Given the description of an element on the screen output the (x, y) to click on. 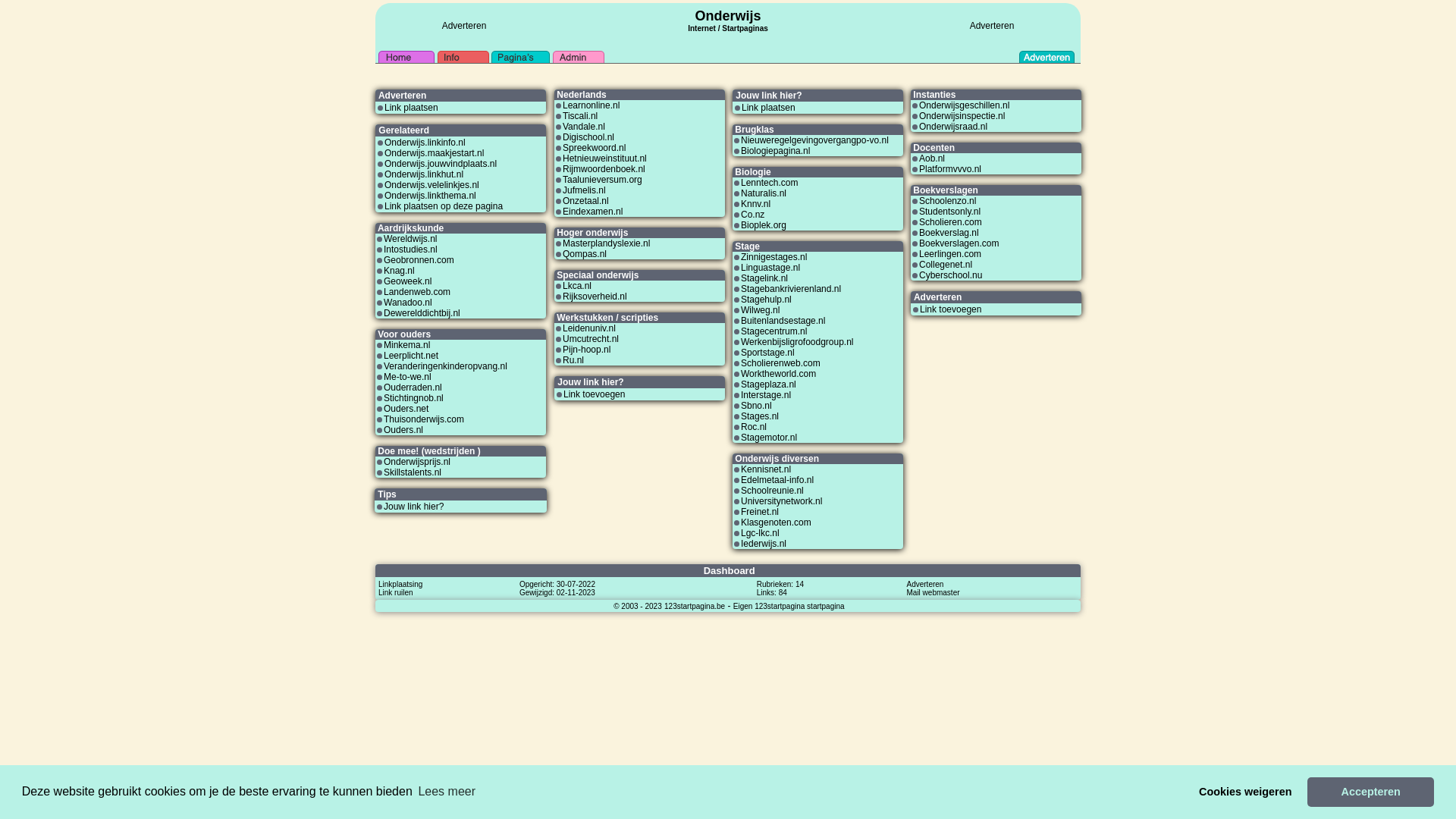
Onderwijs.jouwvindplaats.nl Element type: text (440, 163)
Worktheworld.com Element type: text (777, 373)
Jufmelis.nl Element type: text (583, 190)
Stages.nl Element type: text (759, 416)
123startpagina.be Element type: text (694, 605)
Link plaatsen Element type: text (768, 107)
Geoweek.nl Element type: text (407, 281)
Jouw link hier? Element type: text (413, 506)
Geobronnen.com Element type: text (418, 259)
Link plaatsen Element type: text (411, 107)
Link toevoegen Element type: text (950, 309)
Onderwijs Element type: text (727, 15)
Stagelink.nl Element type: text (763, 278)
Me-to-we.nl Element type: text (407, 376)
Onderwijsinspectie.nl Element type: text (961, 115)
Hetnieuweinstituut.nl Element type: text (604, 158)
Sbno.nl Element type: text (755, 405)
Iederwijs.nl Element type: text (763, 543)
Skillstalents.nl Element type: text (412, 472)
Digischool.nl Element type: text (588, 136)
Onderwijsgeschillen.nl Element type: text (964, 105)
Eigen 123startpagina startpagina Element type: text (788, 605)
Schoolreunie.nl Element type: text (771, 490)
Ru.nl Element type: text (572, 359)
Stageplaza.nl Element type: text (768, 384)
Lkca.nl Element type: text (576, 285)
Leerlingen.com Element type: text (950, 253)
Taalunieversum.org Element type: text (602, 179)
Cyberschool.nu Element type: text (950, 274)
Scholieren.com Element type: text (950, 221)
Linkplaatsing Element type: text (400, 583)
Zinnigestages.nl Element type: text (773, 256)
Biologiepagina.nl Element type: text (774, 150)
Onderwijs.linkhut.nl Element type: text (423, 174)
Link ruilen Element type: text (395, 591)
Knag.nl Element type: text (398, 270)
Leerplicht.net Element type: text (410, 355)
Onzetaal.nl Element type: text (585, 200)
Werkenbijsligrofoodgroup.nl Element type: text (796, 341)
Qompas.nl Element type: text (584, 253)
Minkema.nl Element type: text (406, 344)
Adverteren Element type: text (991, 25)
Cookies weigeren Element type: text (1245, 791)
Thuisonderwijs.com Element type: text (423, 419)
Collegenet.nl Element type: text (945, 264)
Leidenuniv.nl Element type: text (588, 328)
Lgc-lkc.nl Element type: text (759, 532)
Mail webmaster Element type: text (933, 591)
Adverteren Element type: text (925, 583)
Pijn-hoop.nl Element type: text (586, 349)
Scholierenweb.com Element type: text (780, 362)
Startpaginas Element type: text (744, 28)
Lenntech.com Element type: text (768, 182)
Buitenlandsestage.nl Element type: text (782, 320)
Stagebankrivierenland.nl Element type: text (790, 288)
Dewerelddichtbij.nl Element type: text (421, 312)
Kennisnet.nl Element type: text (765, 469)
Onderwijsprijs.nl Element type: text (416, 461)
Ouders.nl Element type: text (403, 429)
Sportstage.nl Element type: text (767, 352)
Wilweg.nl Element type: text (759, 309)
Universitynetwork.nl Element type: text (781, 500)
Interstage.nl Element type: text (765, 394)
Learnonline.nl Element type: text (590, 105)
Schoolenzo.nl Element type: text (947, 200)
Stagemotor.nl Element type: text (768, 437)
Edelmetaal-info.nl Element type: text (776, 479)
Umcutrecht.nl Element type: text (590, 338)
Onderwijsraad.nl Element type: text (953, 126)
Wereldwijs.nl Element type: text (409, 238)
Stagecentrum.nl Element type: text (773, 331)
Vandale.nl Element type: text (583, 126)
Intostudies.nl Element type: text (410, 249)
Link plaatsen op deze pagina Element type: text (443, 205)
Boekverslagen.com Element type: text (958, 243)
Roc.nl Element type: text (753, 426)
Stagehulp.nl Element type: text (765, 299)
Boekverslag.nl Element type: text (949, 232)
Rijksoverheid.nl Element type: text (594, 296)
Onderwijs.maakjestart.nl Element type: text (433, 152)
Platformvvvo.nl Element type: text (950, 168)
Internet Element type: text (701, 26)
Bioplek.org Element type: text (763, 224)
Ouders.net Element type: text (405, 408)
Naturalis.nl Element type: text (763, 193)
Wanadoo.nl Element type: text (407, 302)
Landenweb.com Element type: text (416, 291)
Klasgenoten.com Element type: text (775, 522)
Freinet.nl Element type: text (759, 511)
Eindexamen.nl Element type: text (592, 211)
Masterplandyslexie.nl Element type: text (605, 243)
Onderwijs.linkthema.nl Element type: text (430, 195)
Lees meer Element type: text (446, 791)
Linguastage.nl Element type: text (770, 267)
Tiscali.nl Element type: text (579, 115)
Adverteren Element type: text (464, 25)
Onderwijs.velelinkjes.nl Element type: text (431, 184)
Spreekwoord.nl Element type: text (593, 147)
Studentsonly.nl Element type: text (949, 211)
Ouderraden.nl Element type: text (412, 387)
Stichtingnob.nl Element type: text (413, 397)
Nieuweregelgevingovergangpo-vo.nl Element type: text (814, 139)
Co.nz Element type: text (752, 214)
Aob.nl Element type: text (931, 158)
Knnv.nl Element type: text (755, 203)
Accepteren Element type: text (1370, 791)
Link toevoegen Element type: text (593, 394)
Veranderingenkinderopvang.nl Element type: text (445, 365)
Onderwijs.linkinfo.nl Element type: text (424, 142)
Rijmwoordenboek.nl Element type: text (603, 168)
